Given the description of an element on the screen output the (x, y) to click on. 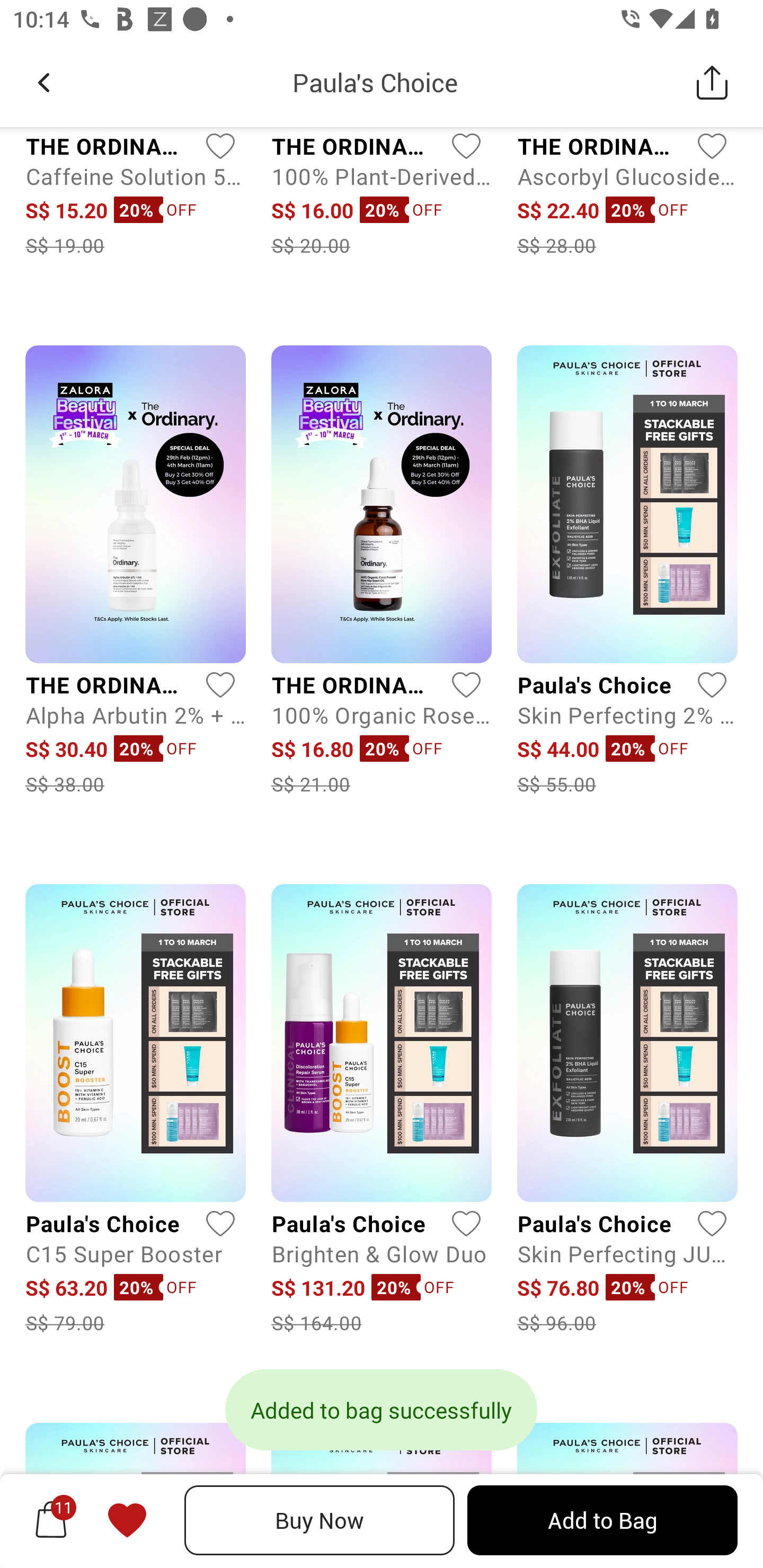
Paula's Choice (375, 82)
Share this Product (711, 82)
Campaign banner (135, 1495)
Campaign banner (627, 1495)
Buy Now (319, 1519)
Add to Bag (601, 1519)
11 (50, 1520)
